Given the description of an element on the screen output the (x, y) to click on. 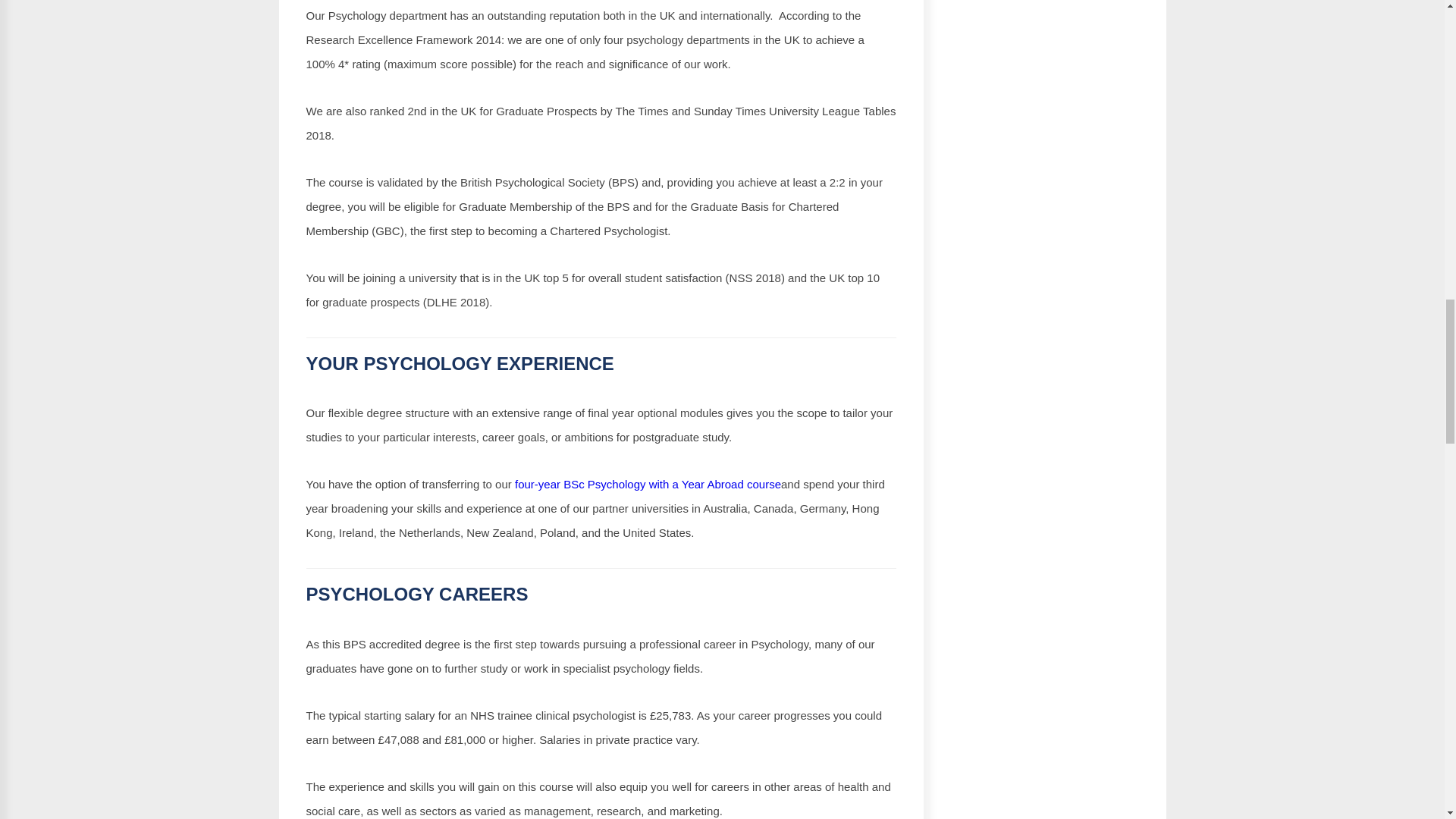
four-year BSc Psychology with a Year Abroad course (647, 483)
